Given the description of an element on the screen output the (x, y) to click on. 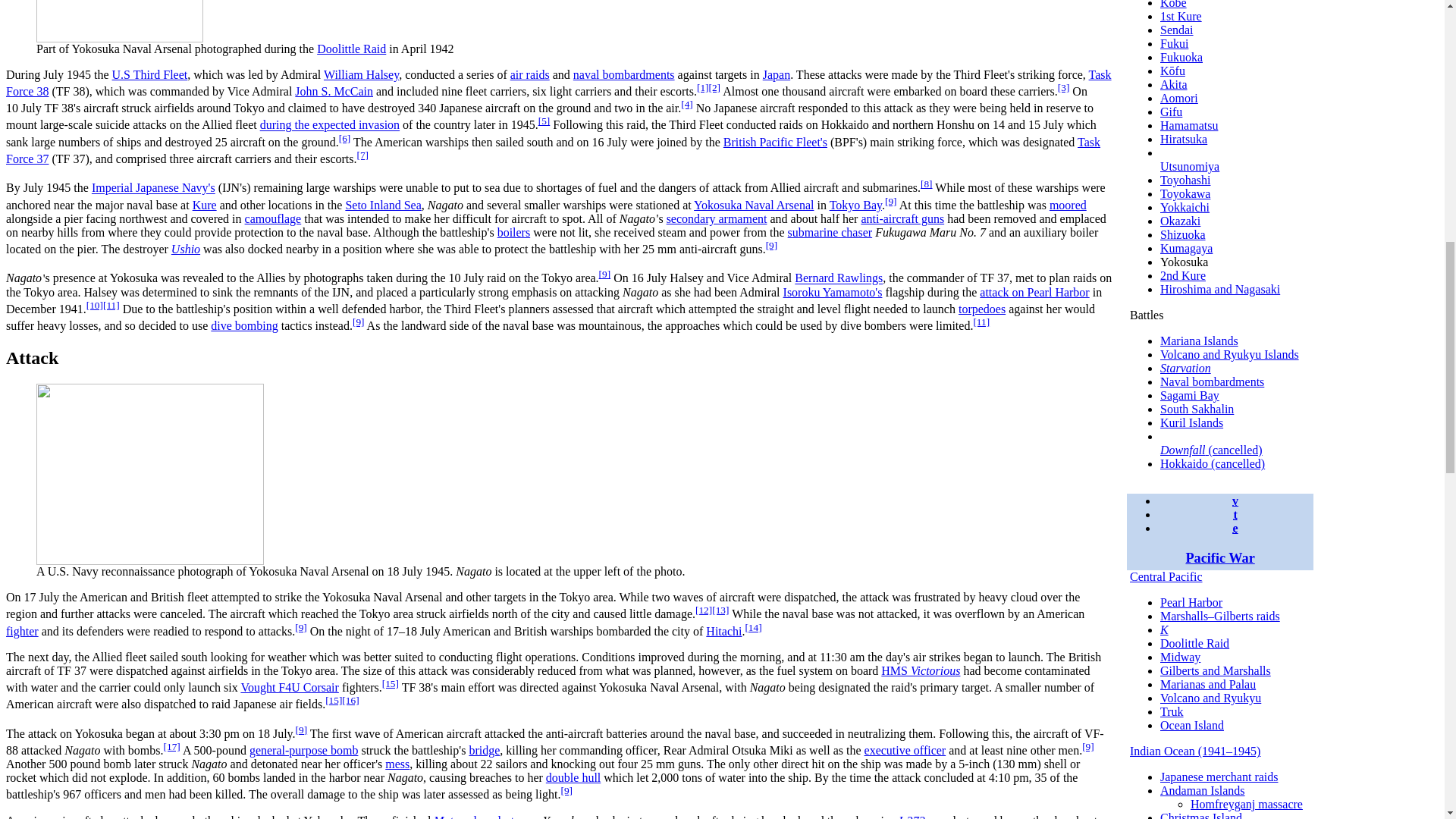
Fukui (1174, 42)
Sendai (1176, 29)
Fukuoka (1181, 56)
1st Kure (1181, 15)
Kobe (1173, 4)
